Given the description of an element on the screen output the (x, y) to click on. 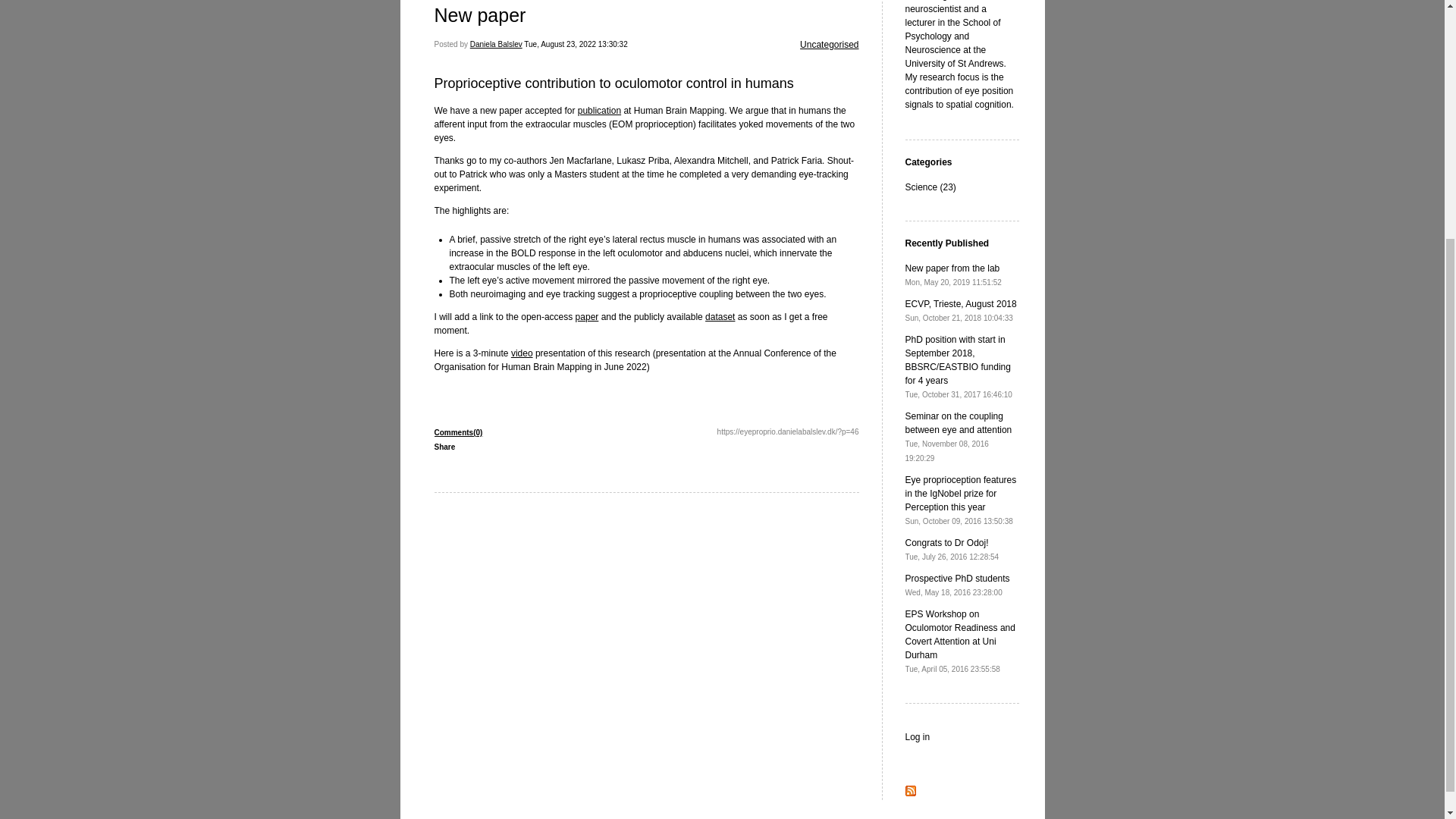
paper (586, 317)
publication (599, 110)
Uncategorised (829, 44)
Log in (957, 585)
RSS 2.0 (917, 737)
video (910, 792)
Uncategorised (521, 353)
